Given the description of an element on the screen output the (x, y) to click on. 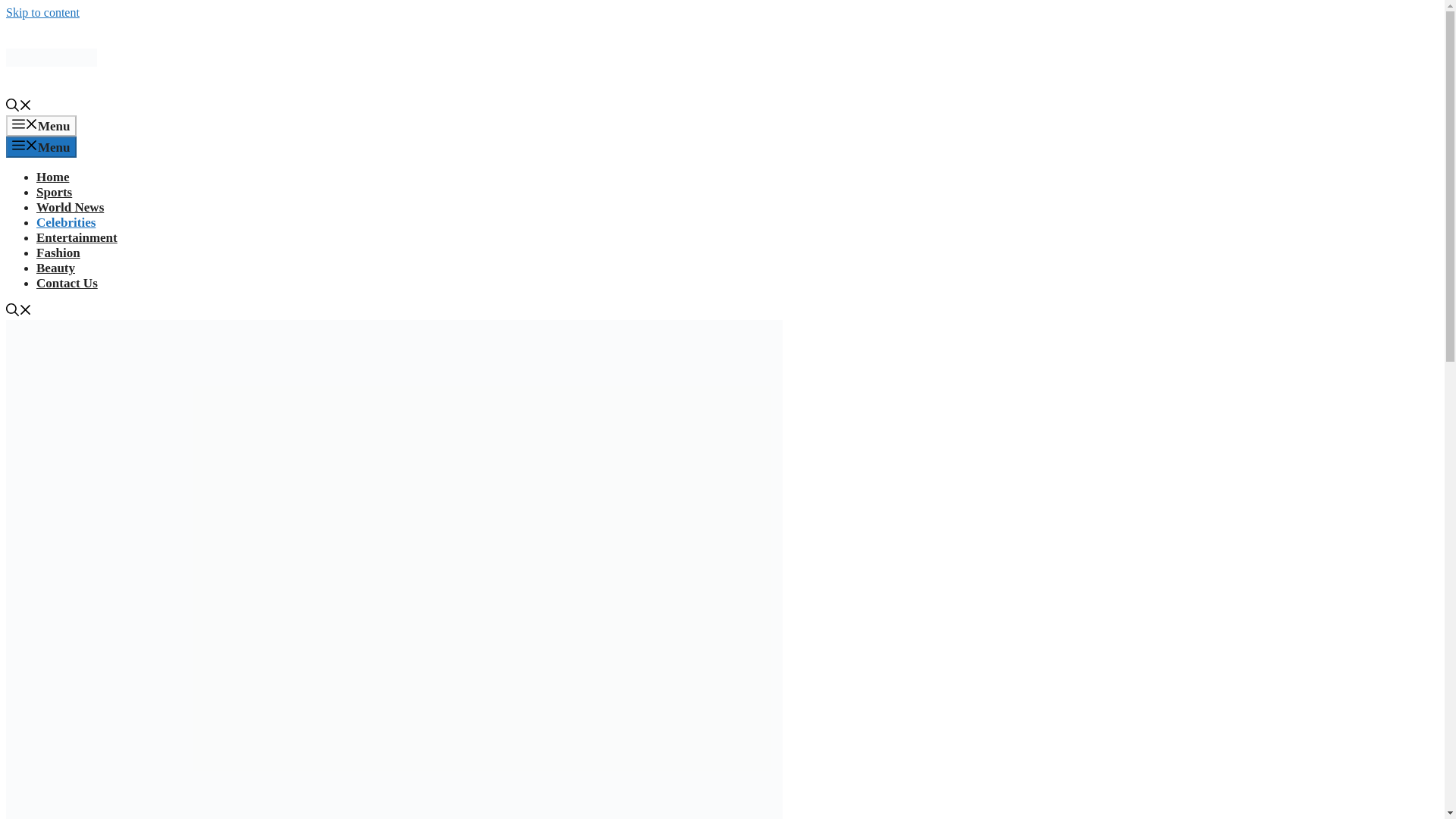
Celebrities (66, 222)
Menu (41, 125)
Contact Us (66, 283)
Skip to content (42, 11)
World News (69, 206)
Fashion (58, 252)
Sports (53, 192)
Entertainment (76, 237)
Home (52, 176)
Beauty (55, 268)
